Given the description of an element on the screen output the (x, y) to click on. 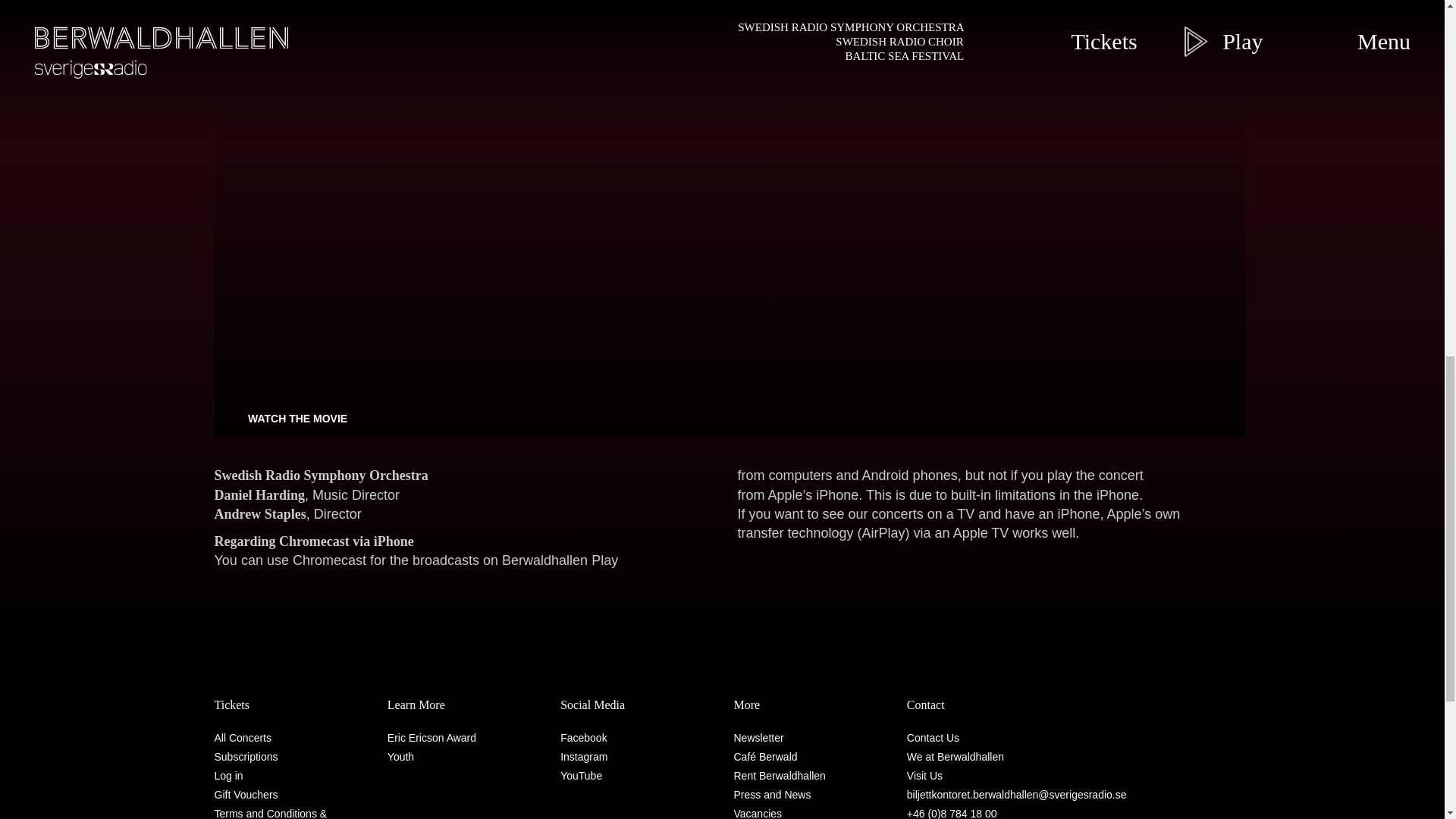
video-camera (234, 417)
